Given the description of an element on the screen output the (x, y) to click on. 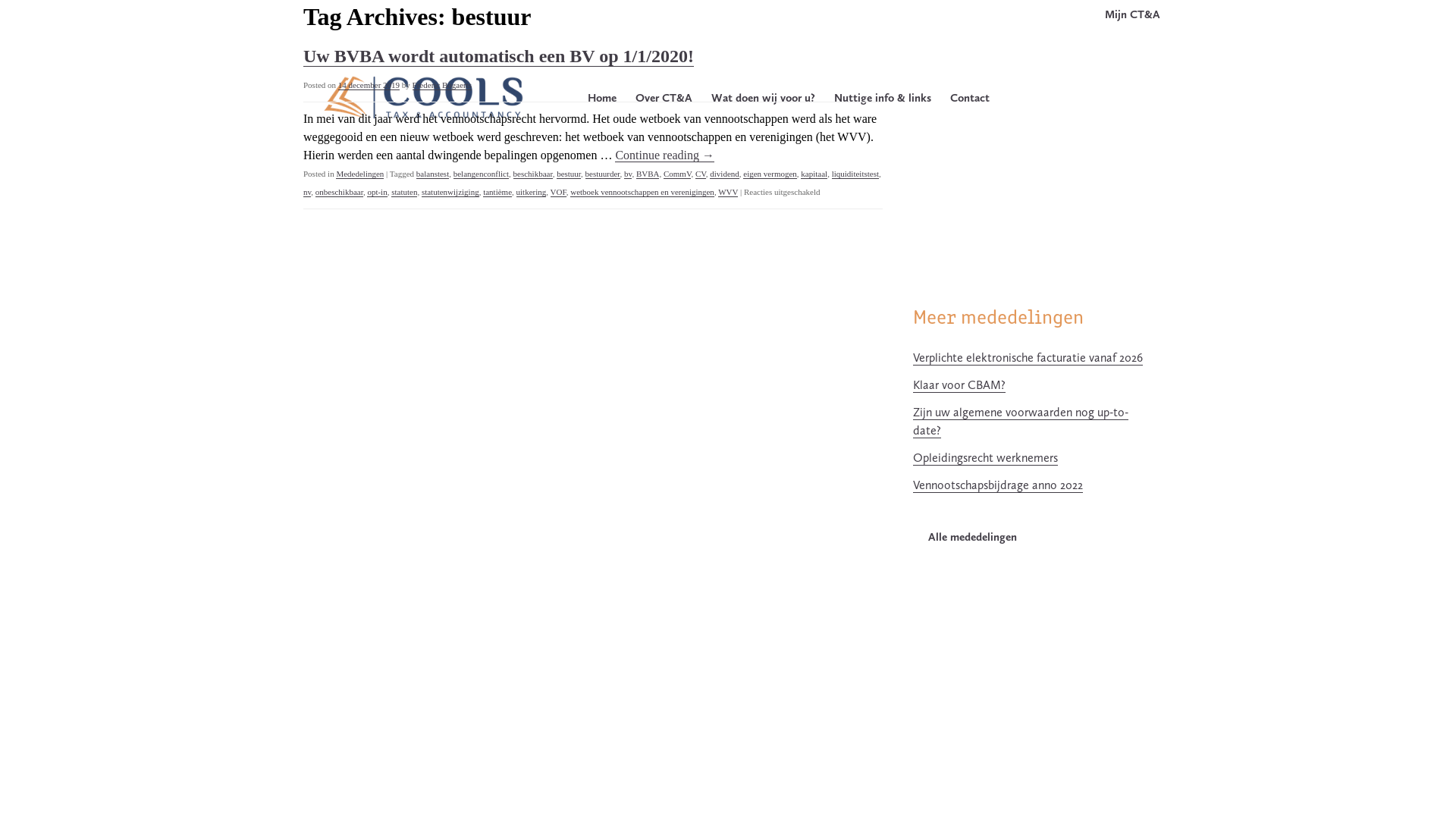
Home Element type: text (601, 103)
onbeschikbaar Element type: text (339, 192)
bestuurder Element type: text (602, 173)
Nuttige info & links Element type: text (882, 103)
belangenconflict Element type: text (480, 173)
statutenwijziging Element type: text (450, 192)
kapitaal Element type: text (813, 173)
Verplichte elektronische facturatie vanaf 2026 Element type: text (1027, 357)
Vennootschapsbijdrage anno 2022 Element type: text (997, 484)
liquiditeitstest Element type: text (854, 173)
Contact Element type: text (969, 103)
VOF Element type: text (558, 192)
WVV Element type: text (727, 192)
Mijn CT&A Element type: text (1132, 14)
beschikbaar Element type: text (532, 173)
Over CT&A Element type: text (663, 103)
nv Element type: text (306, 192)
Klaar voor CBAM? Element type: text (959, 384)
14 december 2019 Element type: text (368, 85)
wetboek vennootschappen en verenigingen Element type: text (642, 192)
bestuur Element type: text (568, 173)
statuten Element type: text (404, 192)
dividend Element type: text (724, 173)
eigen vermogen Element type: text (770, 173)
Opleidingsrecht werknemers Element type: text (985, 457)
Cools Tax & Accountancy Element type: hover (424, 124)
Frederic Bogaerts Element type: text (442, 85)
CV Element type: text (700, 173)
Alle mededelingen Element type: text (964, 536)
Zijn uw algemene voorwaarden nog up-to-date? Element type: text (1020, 421)
Uw BVBA wordt automatisch een BV op 1/1/2020! Element type: text (498, 56)
balanstest Element type: text (432, 173)
bv Element type: text (627, 173)
BVBA Element type: text (647, 173)
Mededelingen Element type: text (359, 173)
uitkering Element type: text (531, 192)
CommV Element type: text (676, 173)
Wat doen wij voor u? Element type: text (763, 103)
opt-in Element type: text (376, 192)
